Given the description of an element on the screen output the (x, y) to click on. 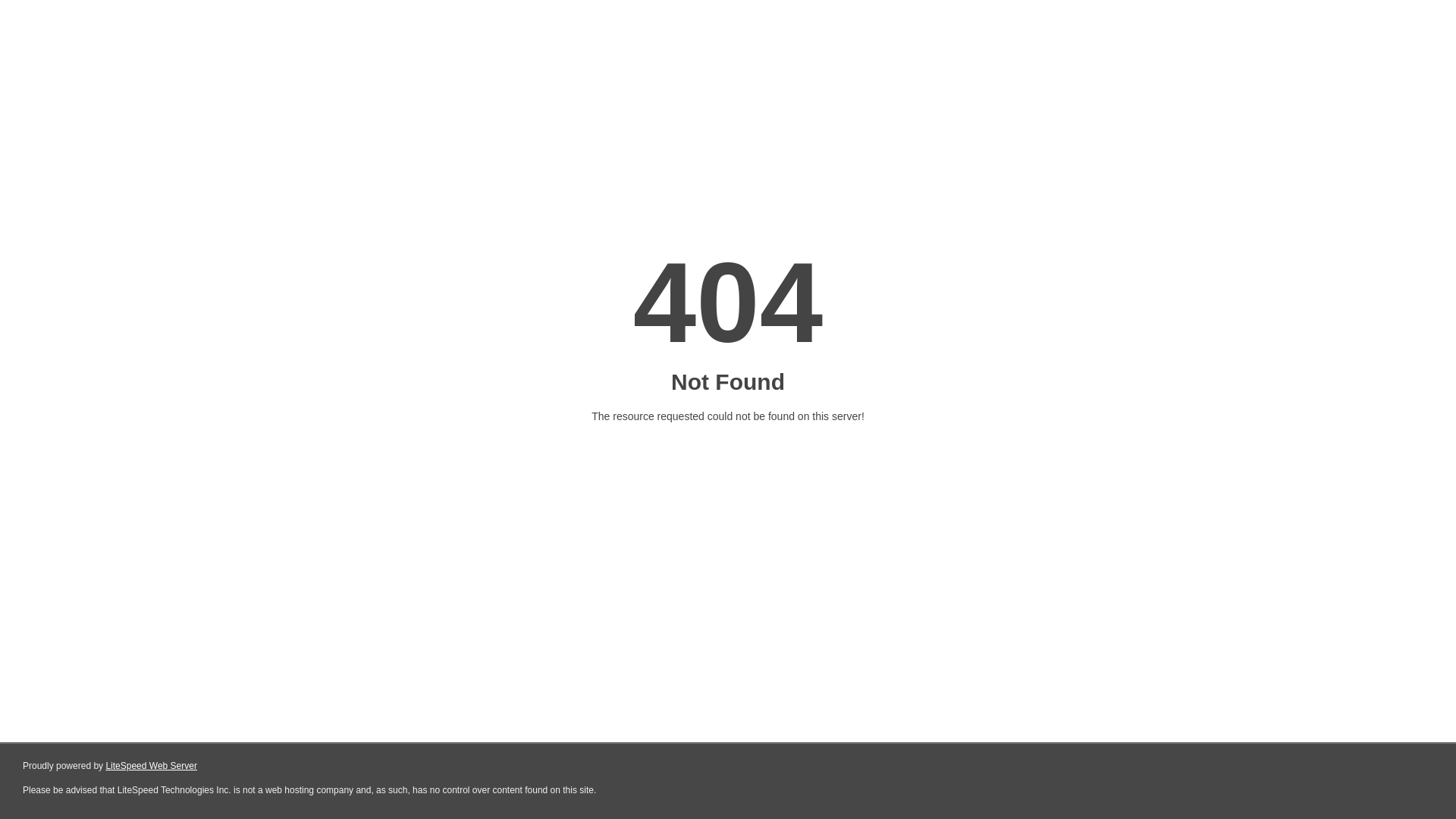
LiteSpeed Web Server (150, 765)
